Given the description of an element on the screen output the (x, y) to click on. 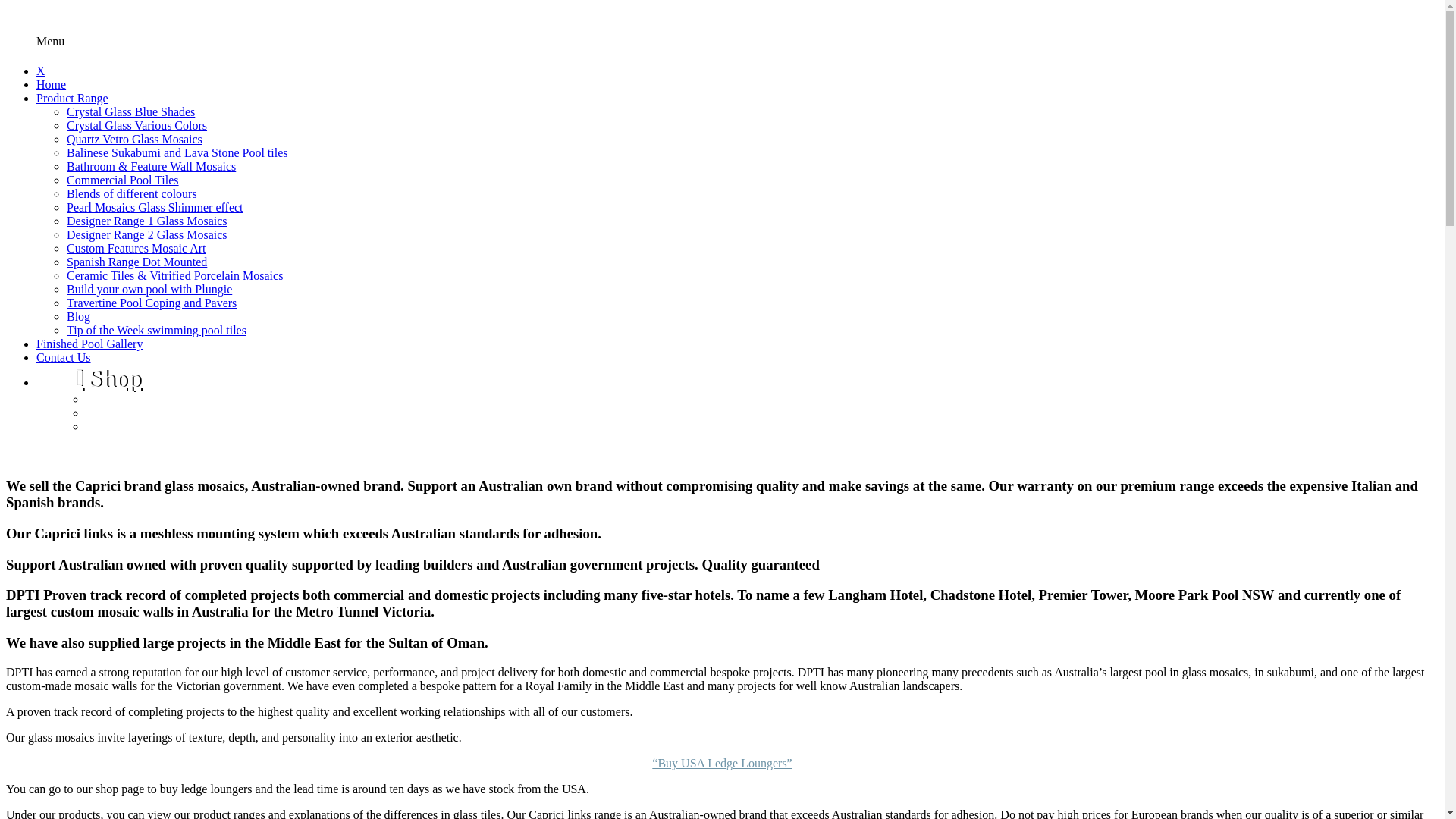
Build your own pool with Plungie Element type: text (149, 288)
Finished Pool Gallery Element type: text (89, 343)
Crystal Glass Various Colors Element type: text (136, 125)
Home Element type: text (50, 84)
Crystal Glass Blue Shades Element type: text (130, 111)
Custom Features Mosaic Art Element type: text (136, 247)
Quartz Vetro Glass Mosaics Element type: text (134, 138)
Pool Tiles Shop Element type: text (149, 412)
Pearl Mosaics Glass Shimmer effect Element type: text (154, 206)
Shop Element type: text (107, 378)
Ceramic Tiles & Vitrified Porcelain Mosaics Element type: text (174, 275)
Contact Us Element type: text (63, 357)
Designer Range 1 Glass Mosaics Element type: text (146, 220)
Pool Equipment Shop Element type: text (165, 426)
Balinese Sukabumi and Lava Stone Pool tiles Element type: text (177, 152)
Menu Element type: text (50, 41)
Pool Loungers & Bean bags Shop Element type: text (196, 399)
Designer Range 2 Glass Mosaics Element type: text (146, 234)
Spanish Range Dot Mounted Element type: text (136, 261)
Blog Element type: text (78, 316)
X Element type: text (40, 70)
Tip of the Week swimming pool tiles Element type: text (156, 329)
Bathroom & Feature Wall Mosaics Element type: text (150, 166)
Product Range Element type: text (72, 97)
Blends of different colours Element type: text (131, 193)
Commercial Pool Tiles Element type: text (122, 179)
Travertine Pool Coping and Pavers Element type: text (151, 302)
